Given the description of an element on the screen output the (x, y) to click on. 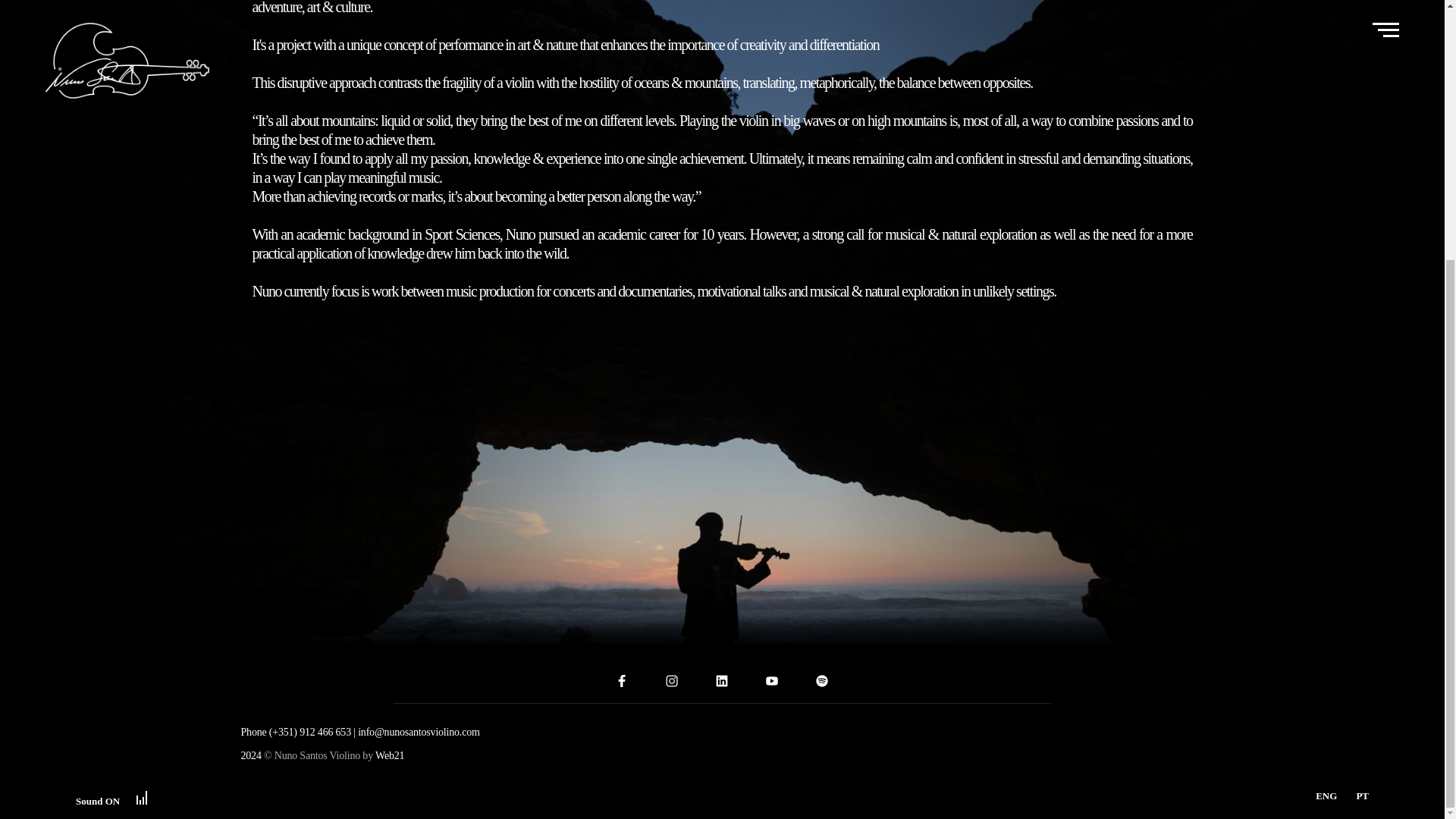
Web21 (389, 755)
PT (1361, 423)
Sound ON (111, 425)
ENG (1326, 423)
2024 (251, 755)
